Given the description of an element on the screen output the (x, y) to click on. 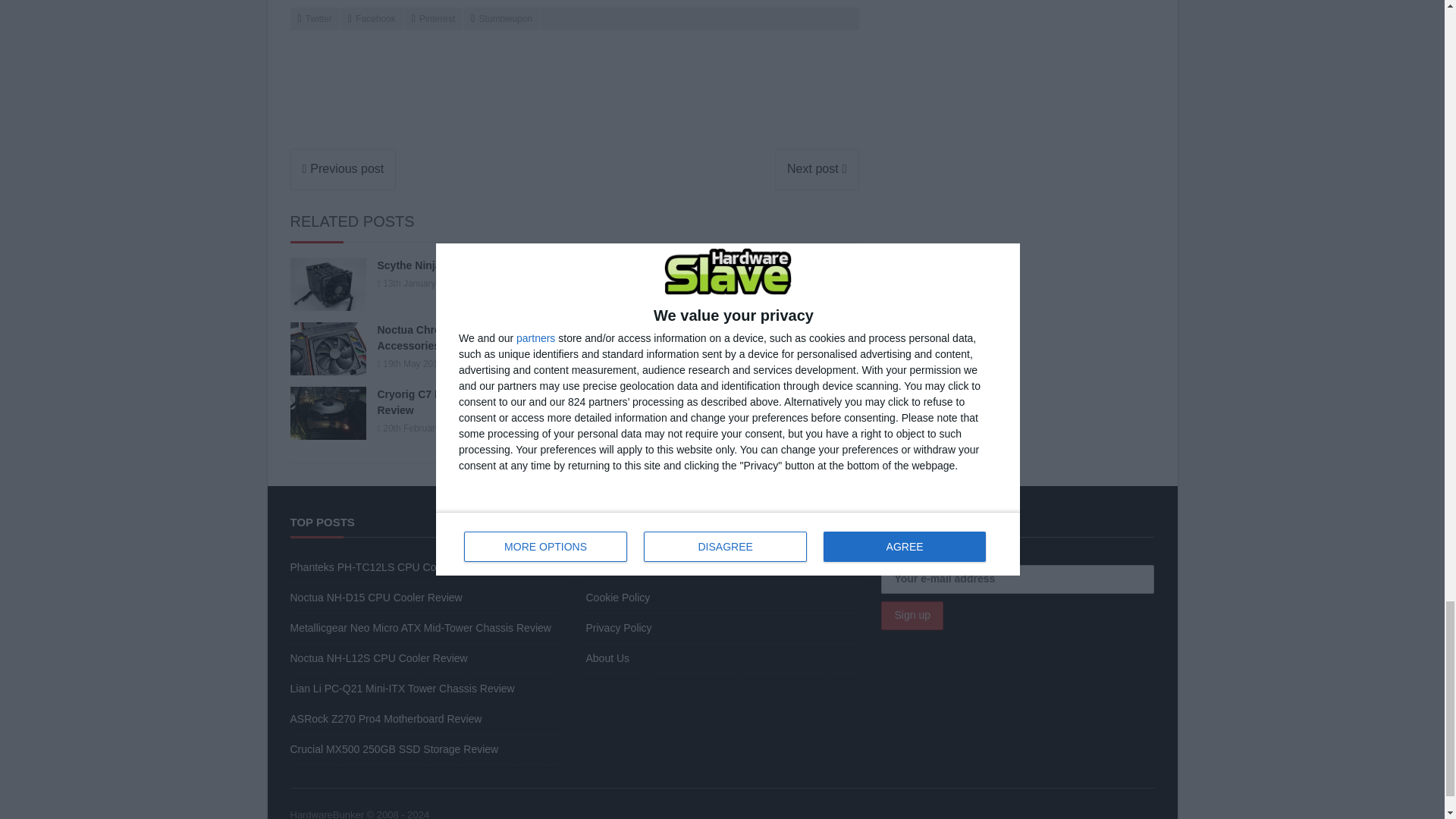
Sign up (911, 615)
Created on (419, 283)
Views (478, 283)
Like (510, 283)
Cryorig M9i Intel CPU Cooler Review (816, 169)
Bloody B720 Light Strike Mechanical Gaming Keyboard Review (342, 169)
Scythe Ninja 5 CPU Cooler Review (327, 284)
Scythe Ninja 5 CPU Cooler Review (421, 283)
